Given the description of an element on the screen output the (x, y) to click on. 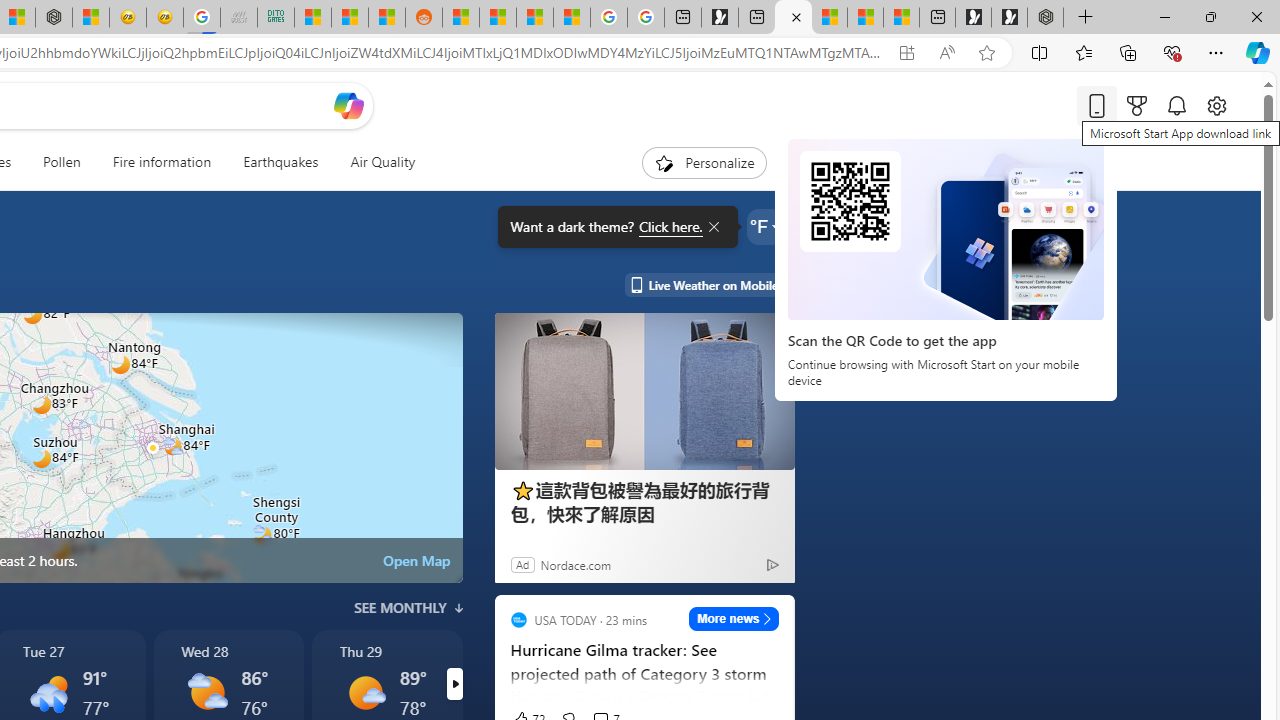
Air Quality (375, 162)
Nordace.com (575, 564)
Microsoft Start Gaming (719, 17)
Partly sunny (206, 692)
Navy Quest (239, 17)
Class: BubbleMessageCloseIcon-DS-EntryPoint1-1 (712, 227)
